Given the description of an element on the screen output the (x, y) to click on. 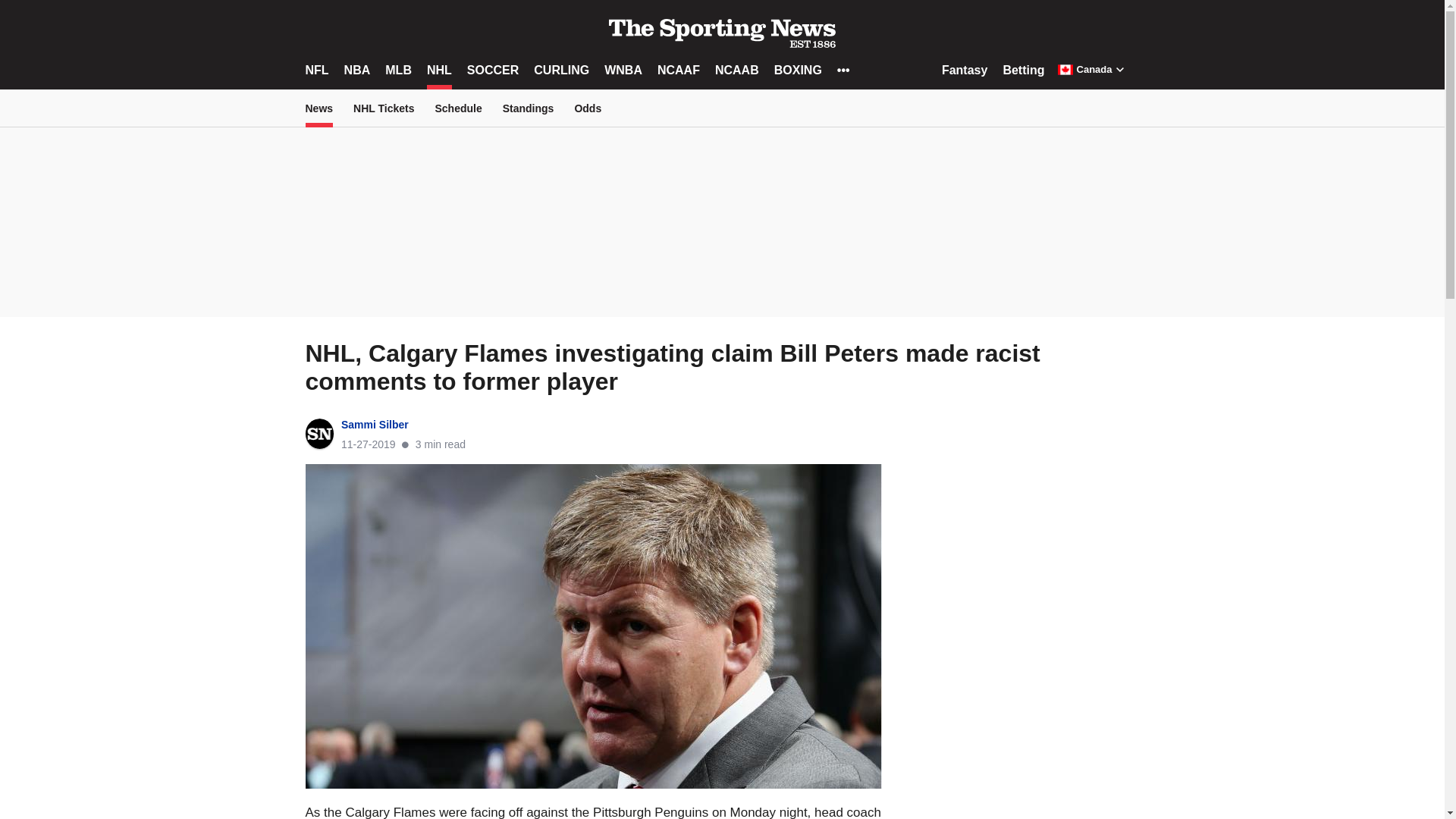
WNBA (623, 70)
BOXING (798, 70)
CURLING (561, 70)
SOCCER (492, 70)
NCAAB (736, 70)
NCAAF (679, 70)
